Given the description of an element on the screen output the (x, y) to click on. 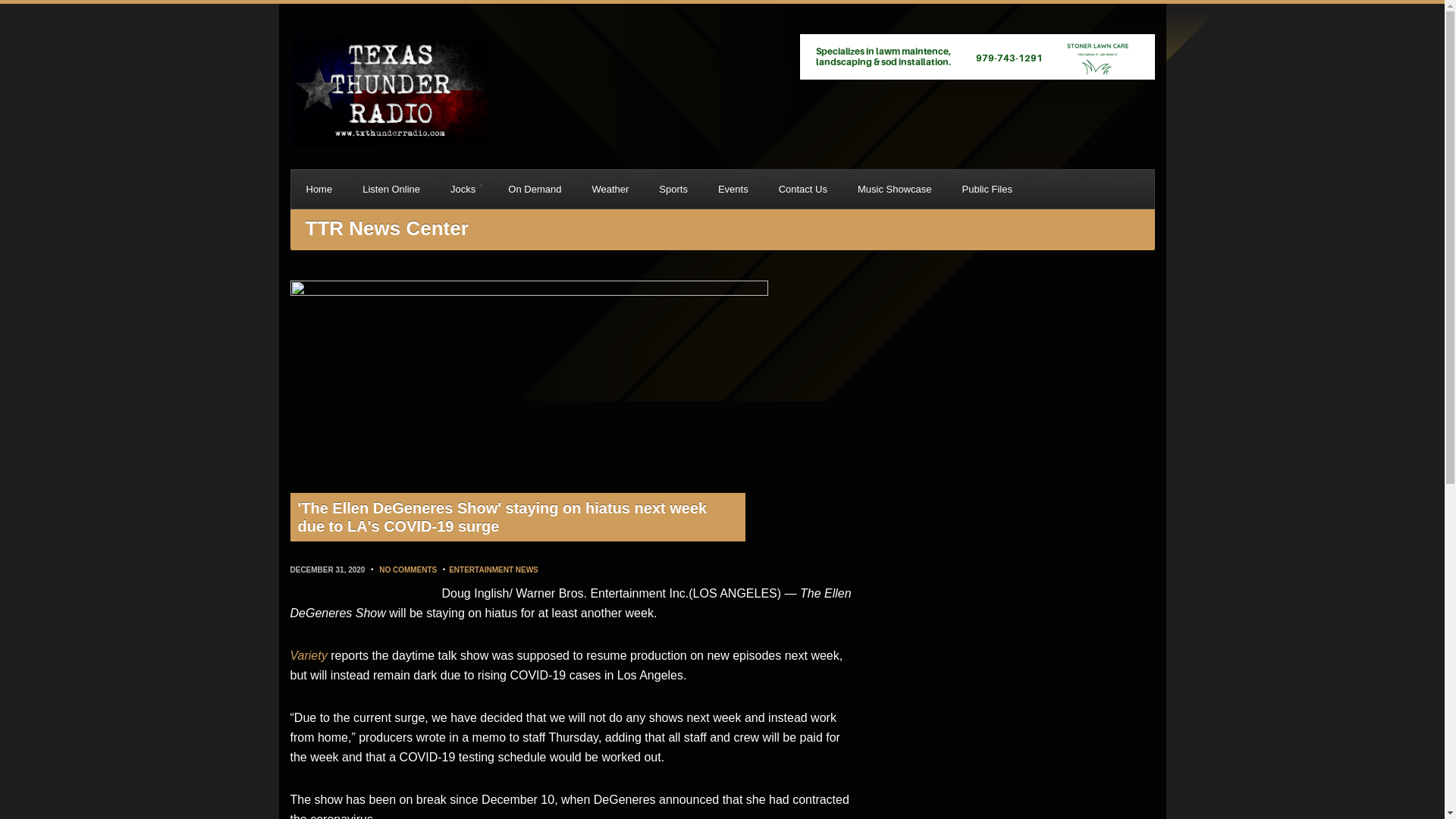
Listen Online (391, 188)
Sports (673, 188)
Home (319, 188)
On Demand (534, 188)
NO COMMENTS (407, 569)
Music Showcase (895, 188)
Events (732, 188)
Jocks (464, 188)
Contact Us (802, 188)
ENTERTAINMENT NEWS (493, 569)
